Given the description of an element on the screen output the (x, y) to click on. 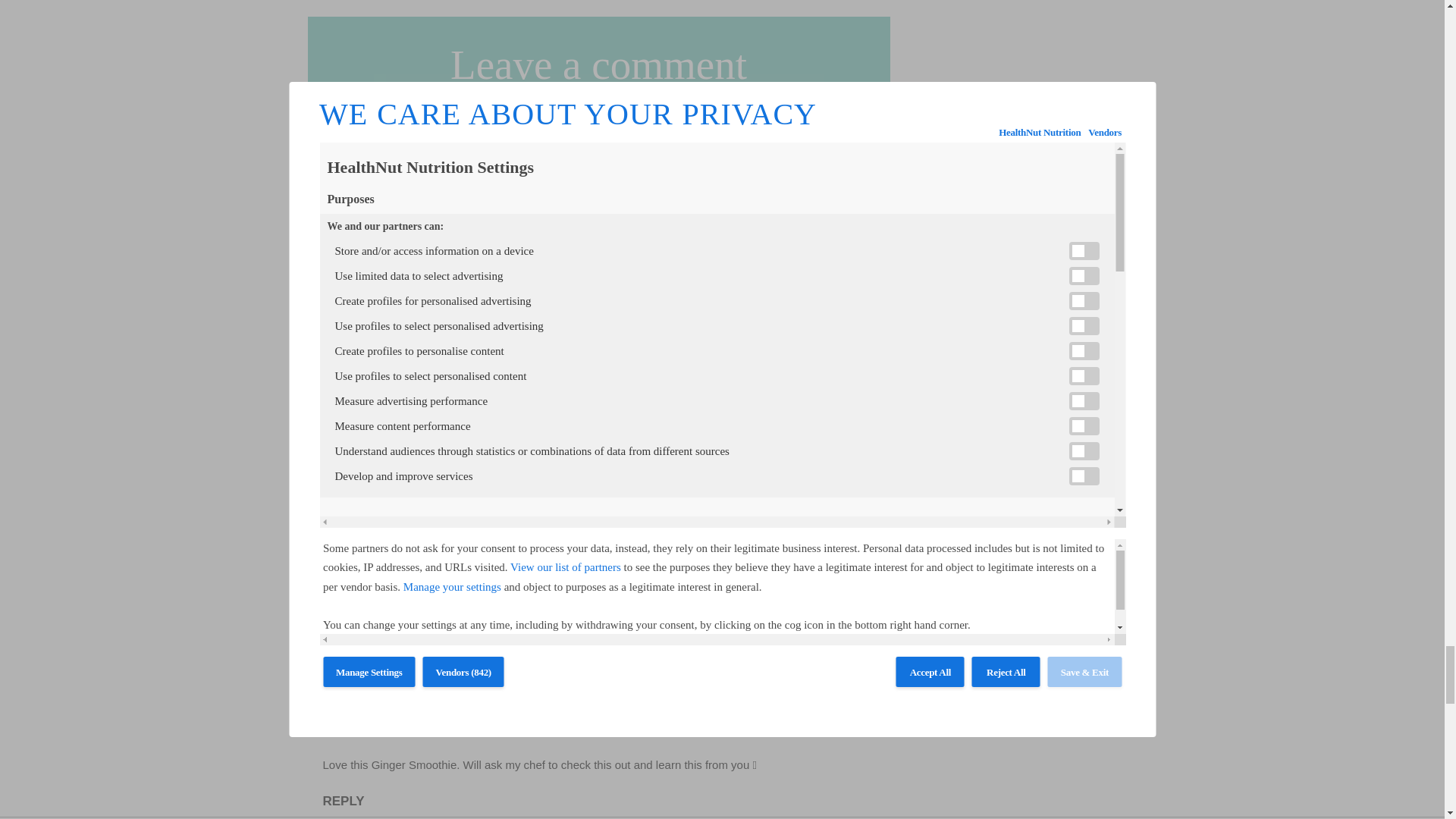
SUBMIT (599, 402)
